Given the description of an element on the screen output the (x, y) to click on. 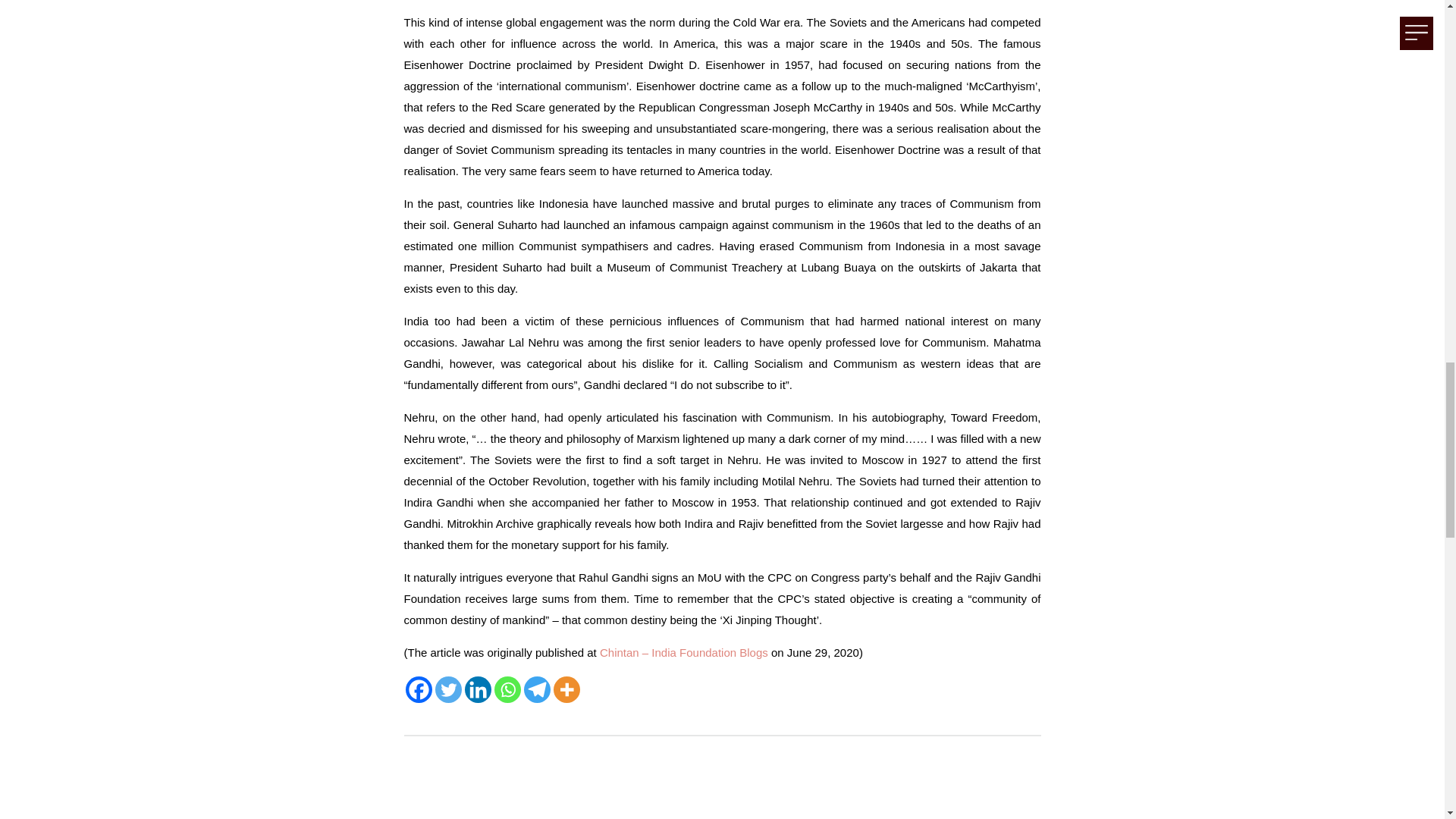
Linkedin (477, 689)
Whatsapp (508, 689)
Telegram (536, 689)
More (566, 689)
Twitter (448, 689)
Facebook (417, 689)
